Given the description of an element on the screen output the (x, y) to click on. 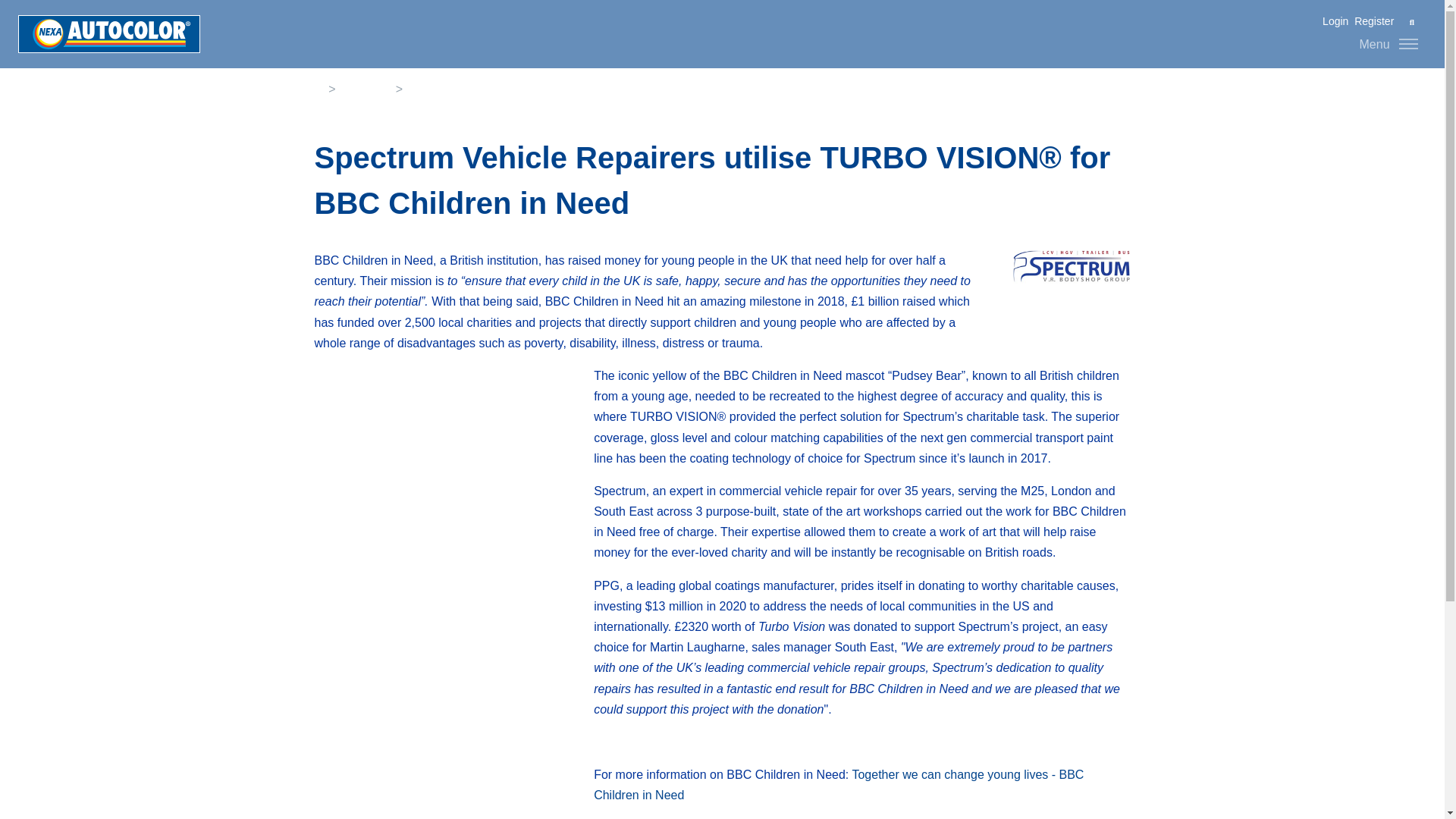
Menu (1388, 43)
 Login (1335, 21)
 Register (1372, 21)
